Given the description of an element on the screen output the (x, y) to click on. 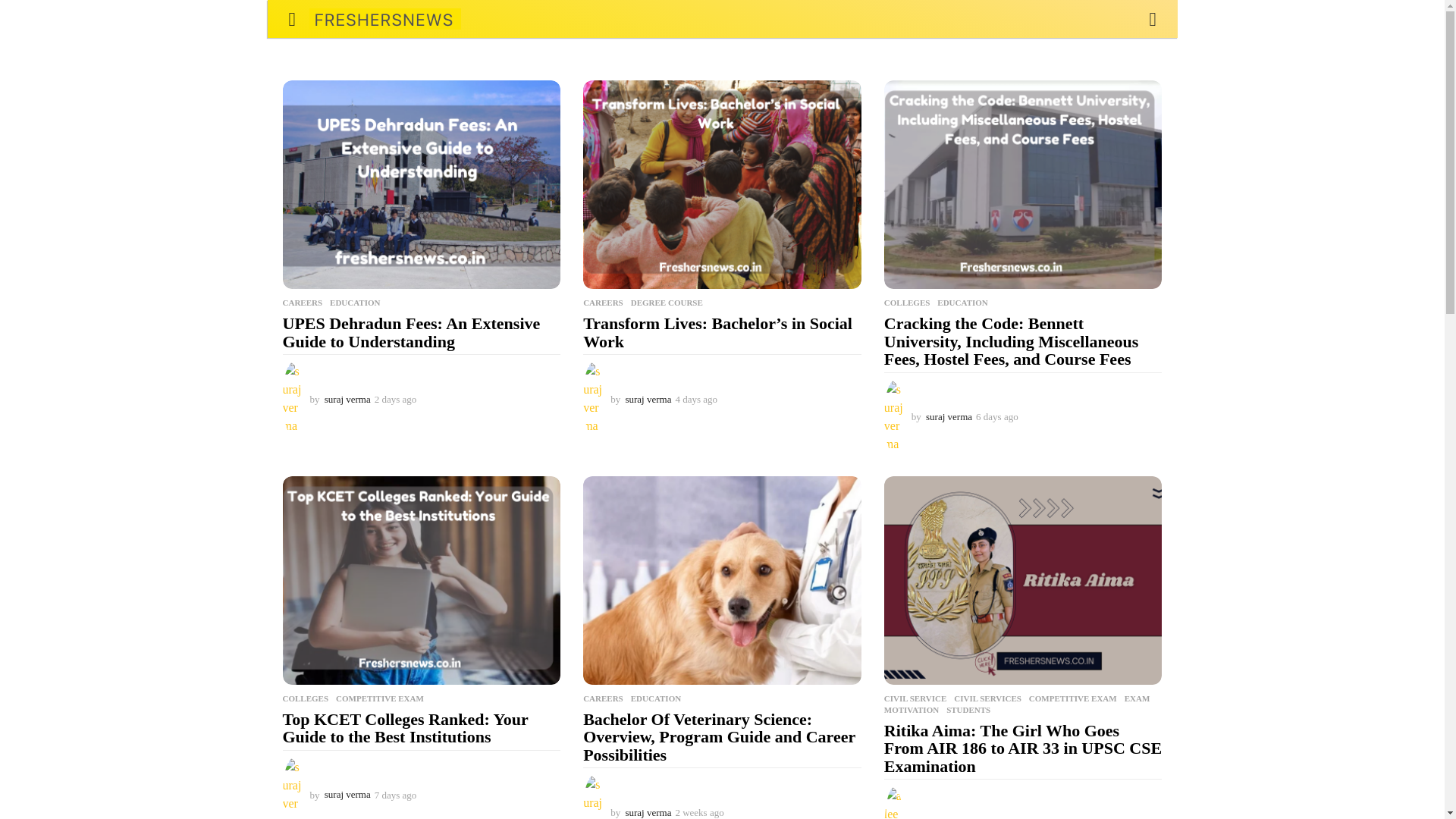
suraj verma (949, 416)
EDUCATION (962, 302)
EDUCATION (355, 302)
suraj verma (347, 398)
COMPETITIVE EXAM (379, 697)
UPES Dehradun Fees: An Extensive Guide to Understanding (421, 184)
COLLEGES (305, 697)
CAREERS (301, 302)
suraj verma (347, 794)
UPES Dehradun Fees: An Extensive Guide to Understanding (411, 332)
